Given the description of an element on the screen output the (x, y) to click on. 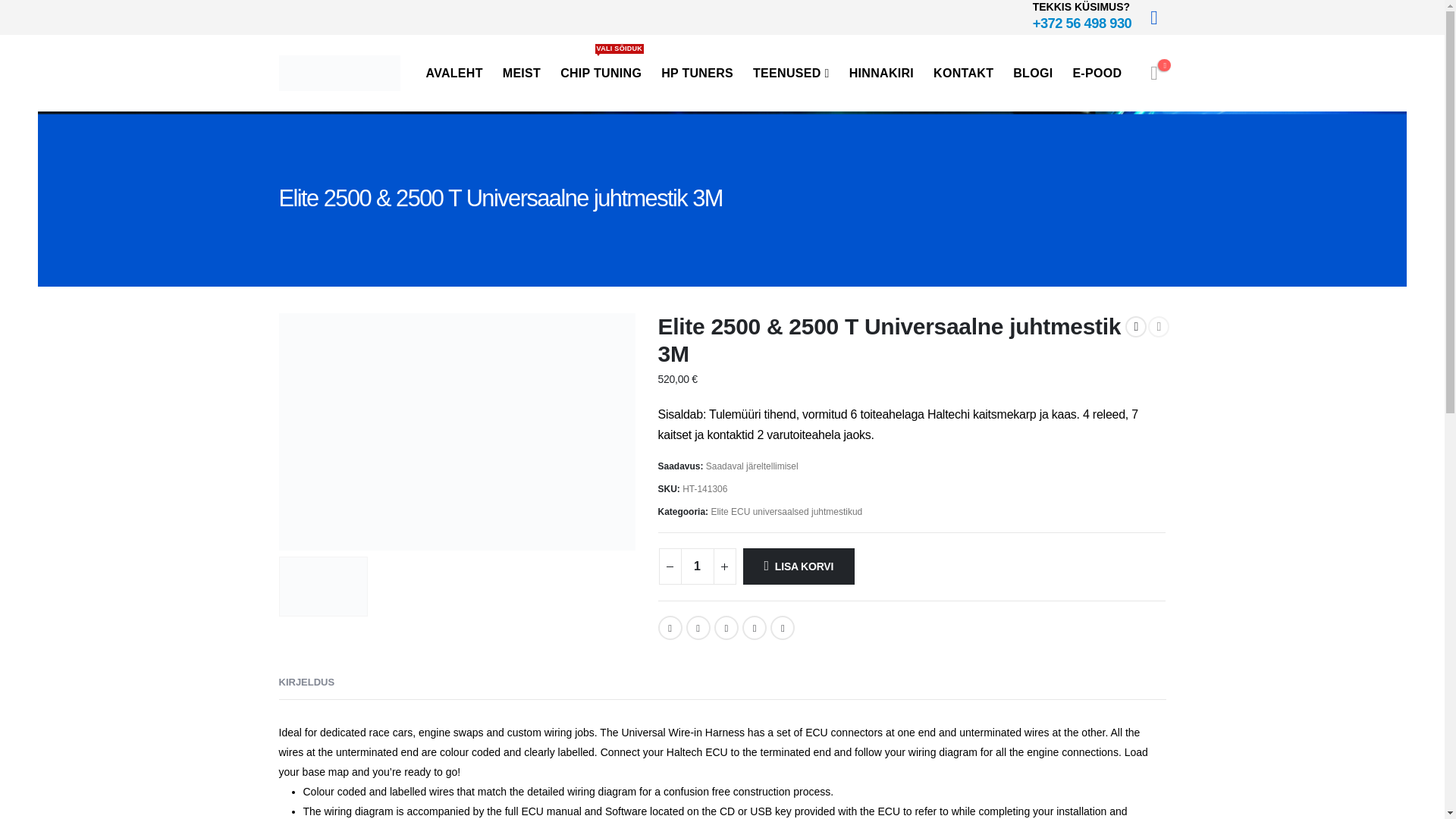
KONTAKT (963, 73)
TEENUSED (792, 73)
LinkedIn (726, 627)
LinkedIn (726, 627)
E-POOD (1096, 73)
Facebook (670, 627)
AVALEHT (454, 73)
Email (782, 627)
Elite ECU universaalsed juhtmestikud (785, 511)
1 (697, 565)
